Given the description of an element on the screen output the (x, y) to click on. 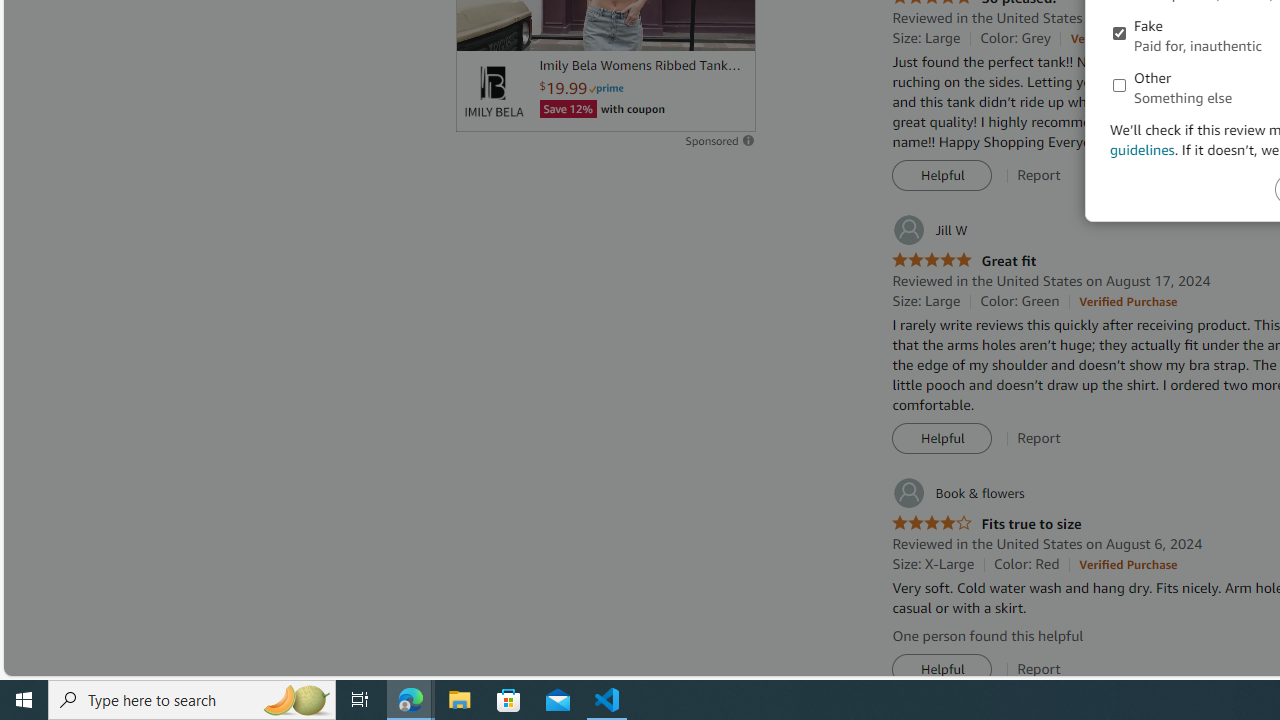
Unmute (729, 27)
Prime (605, 88)
Logo (493, 91)
Jill W (929, 230)
Verified Purchase (1128, 564)
4.0 out of 5 stars Fits true to size (986, 524)
Report (1039, 669)
5.0 out of 5 stars Great fit (964, 260)
Book & flowers (958, 493)
Helpful (942, 669)
Pause (481, 27)
